Given the description of an element on the screen output the (x, y) to click on. 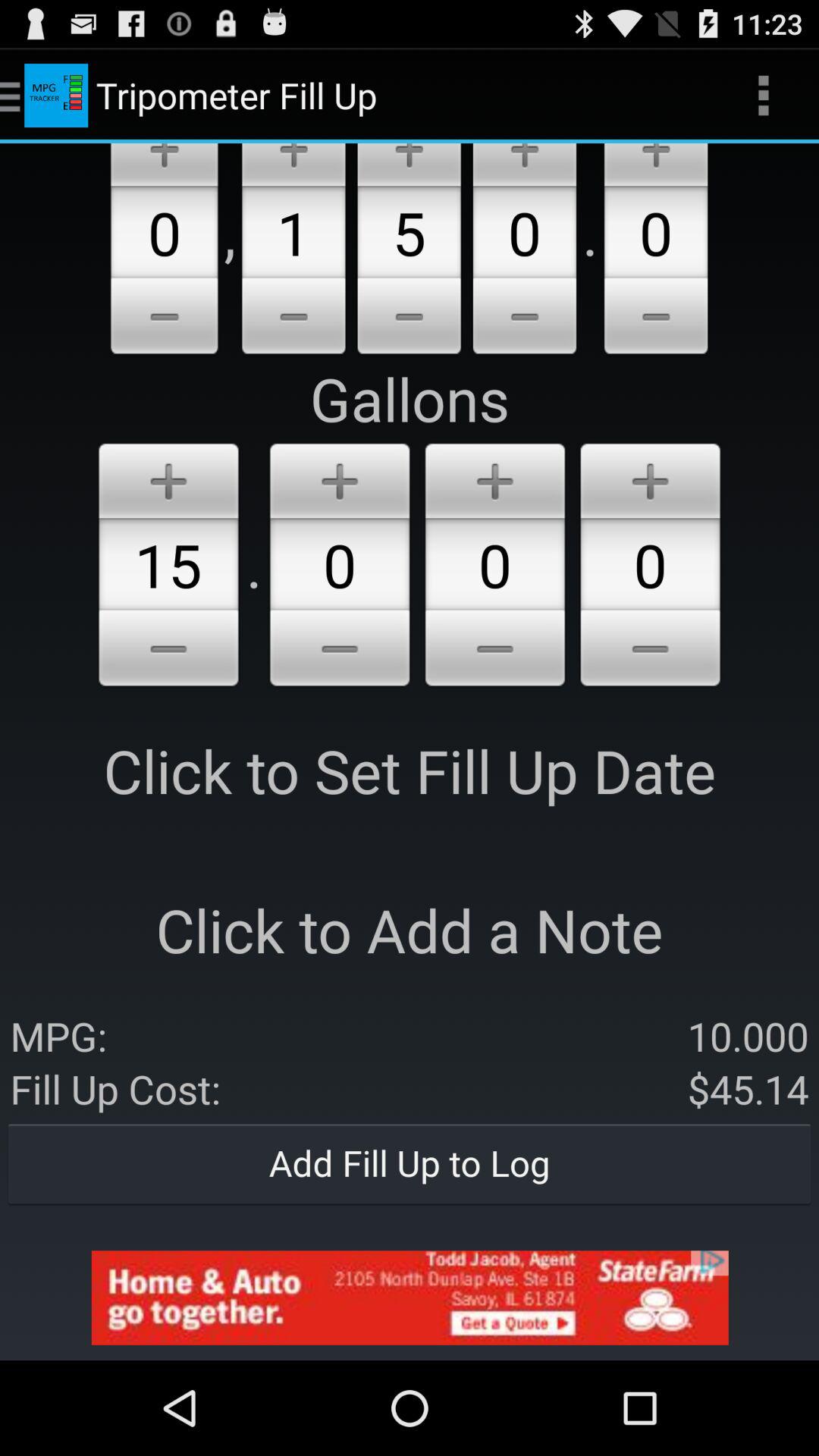
remove item (650, 651)
